Given the description of an element on the screen output the (x, y) to click on. 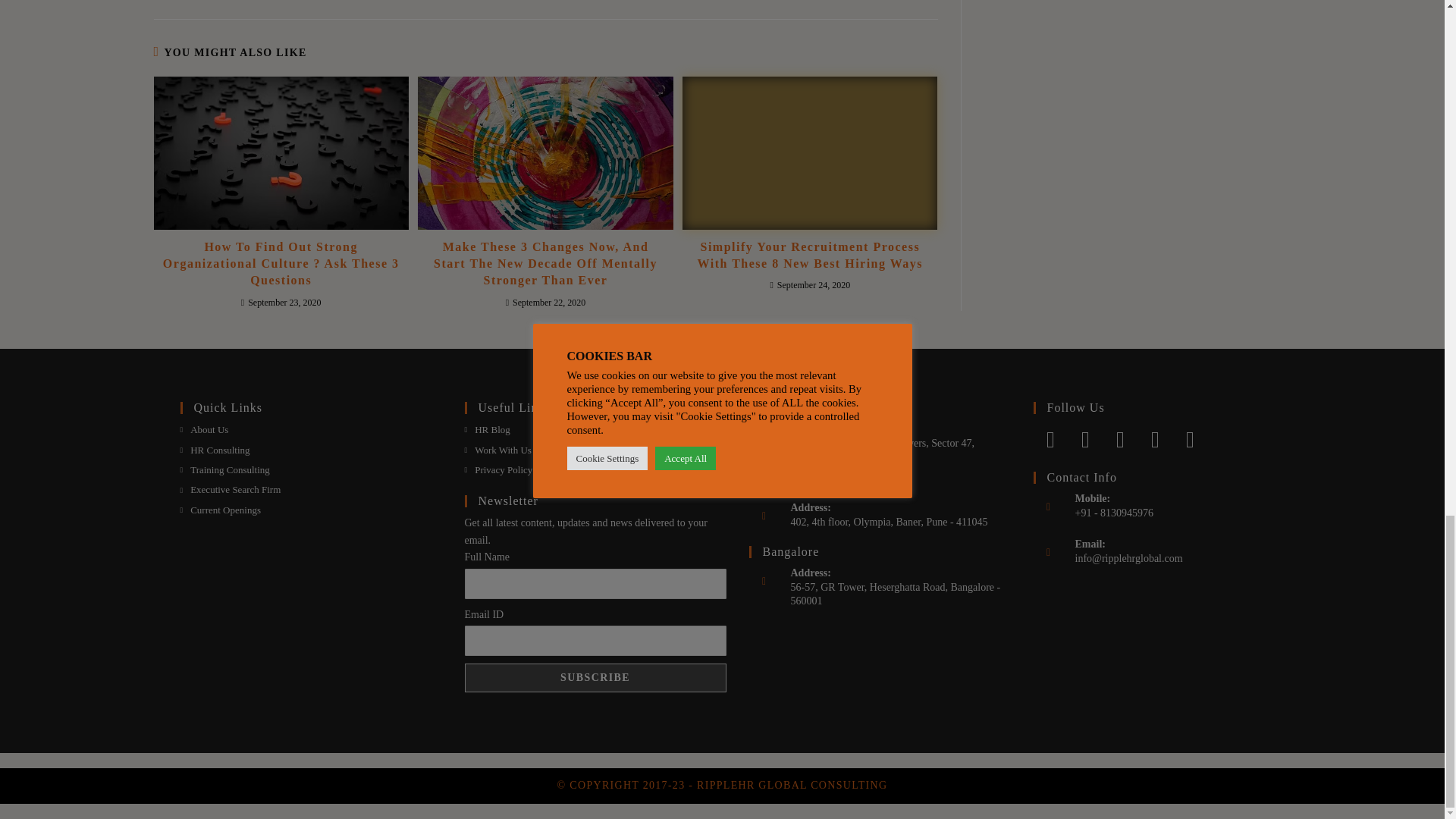
Subscribe (594, 677)
